Given the description of an element on the screen output the (x, y) to click on. 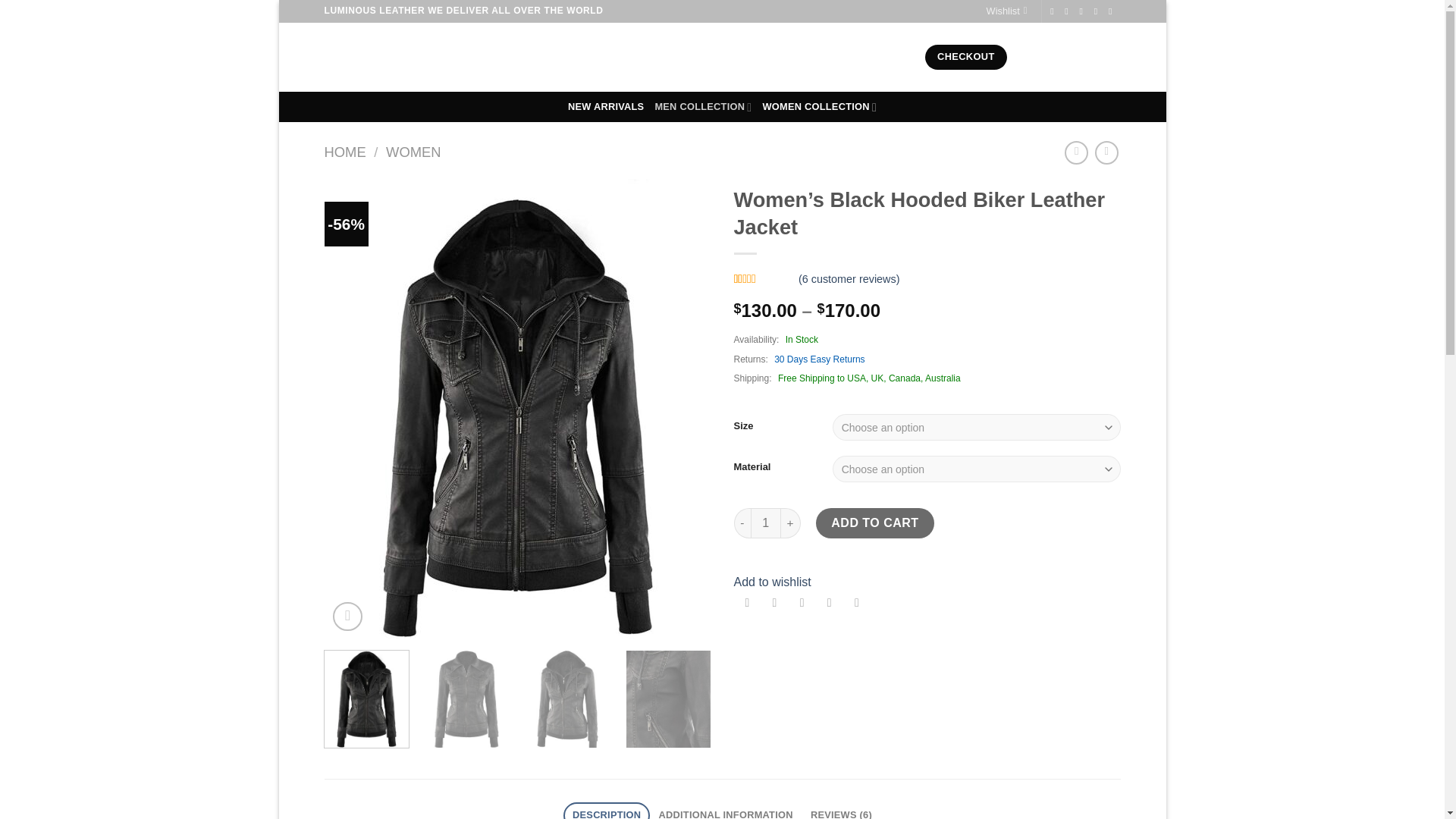
- (742, 522)
Luminous Leather (418, 56)
Search (788, 57)
HOME (345, 151)
NEW ARRIVALS (605, 106)
WOMEN (413, 151)
1 (765, 522)
MEN COLLECTION (702, 106)
WOMEN COLLECTION (818, 106)
